Given the description of an element on the screen output the (x, y) to click on. 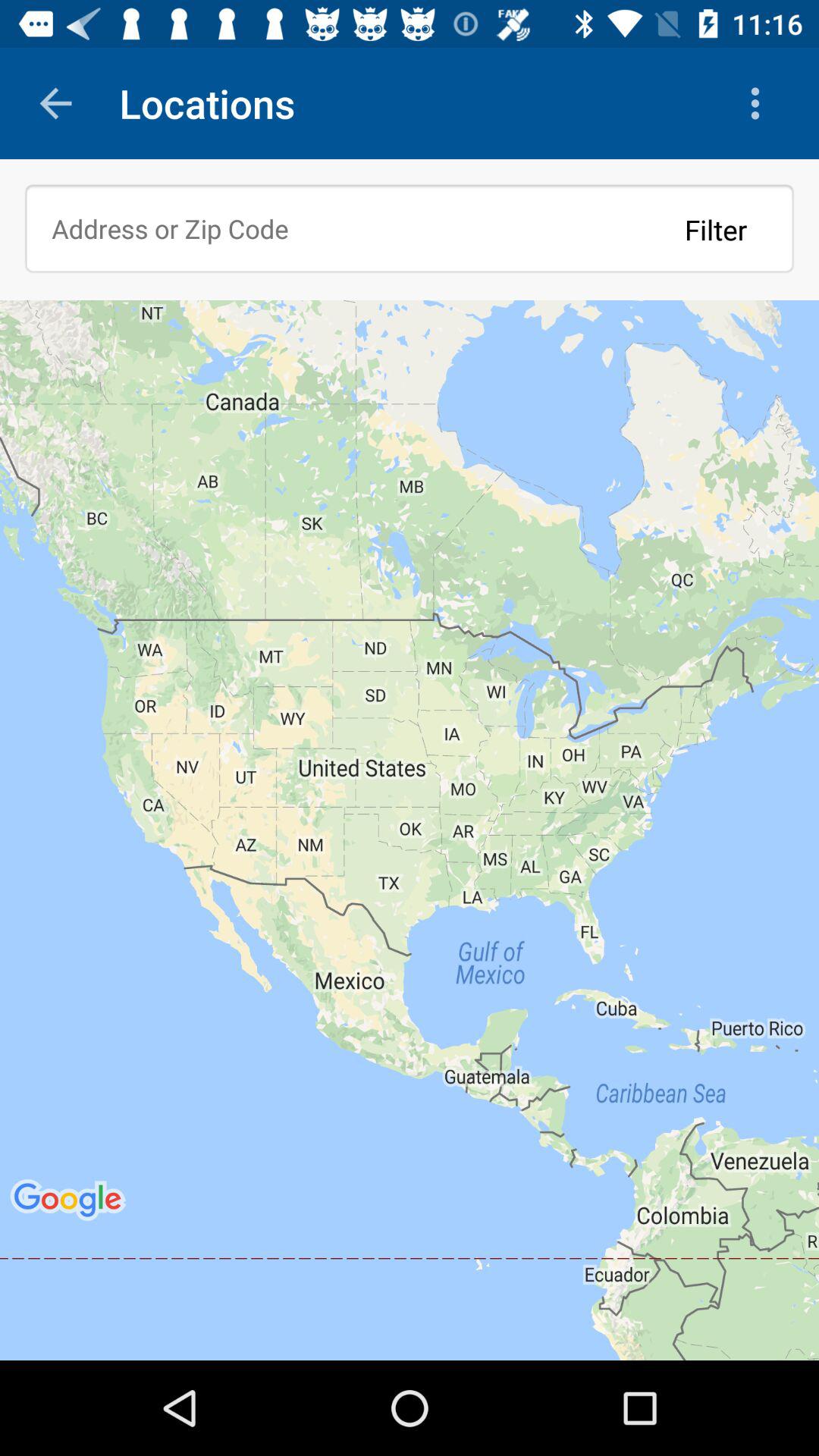
tap app below filter item (409, 830)
